Given the description of an element on the screen output the (x, y) to click on. 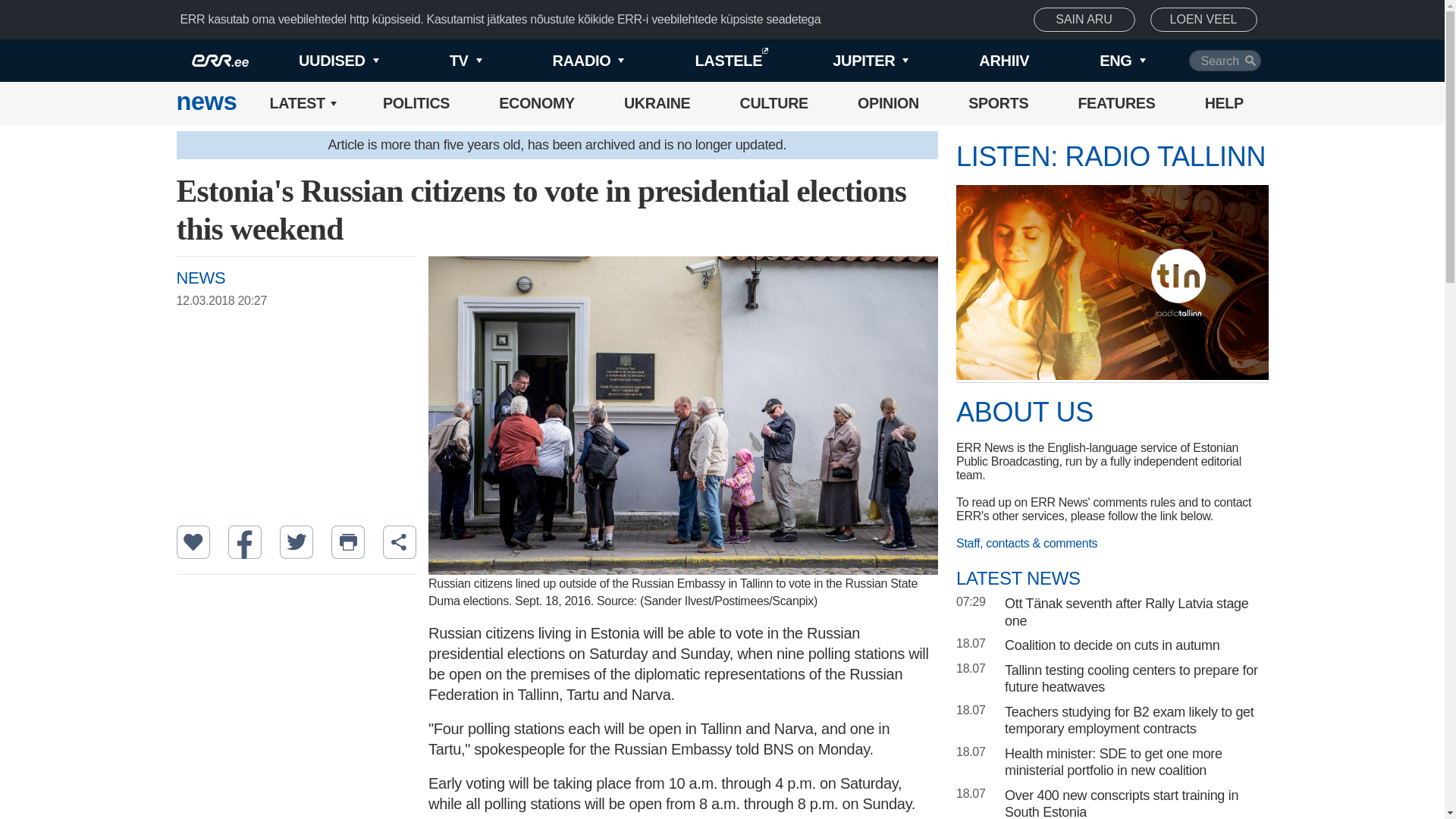
SAIN ARU (1084, 19)
UUDISED (314, 60)
12.03.2018 20:27 (302, 300)
RAADIO (563, 60)
Avalehele (205, 103)
LOEN VEEL (1203, 19)
TV (440, 60)
